Given the description of an element on the screen output the (x, y) to click on. 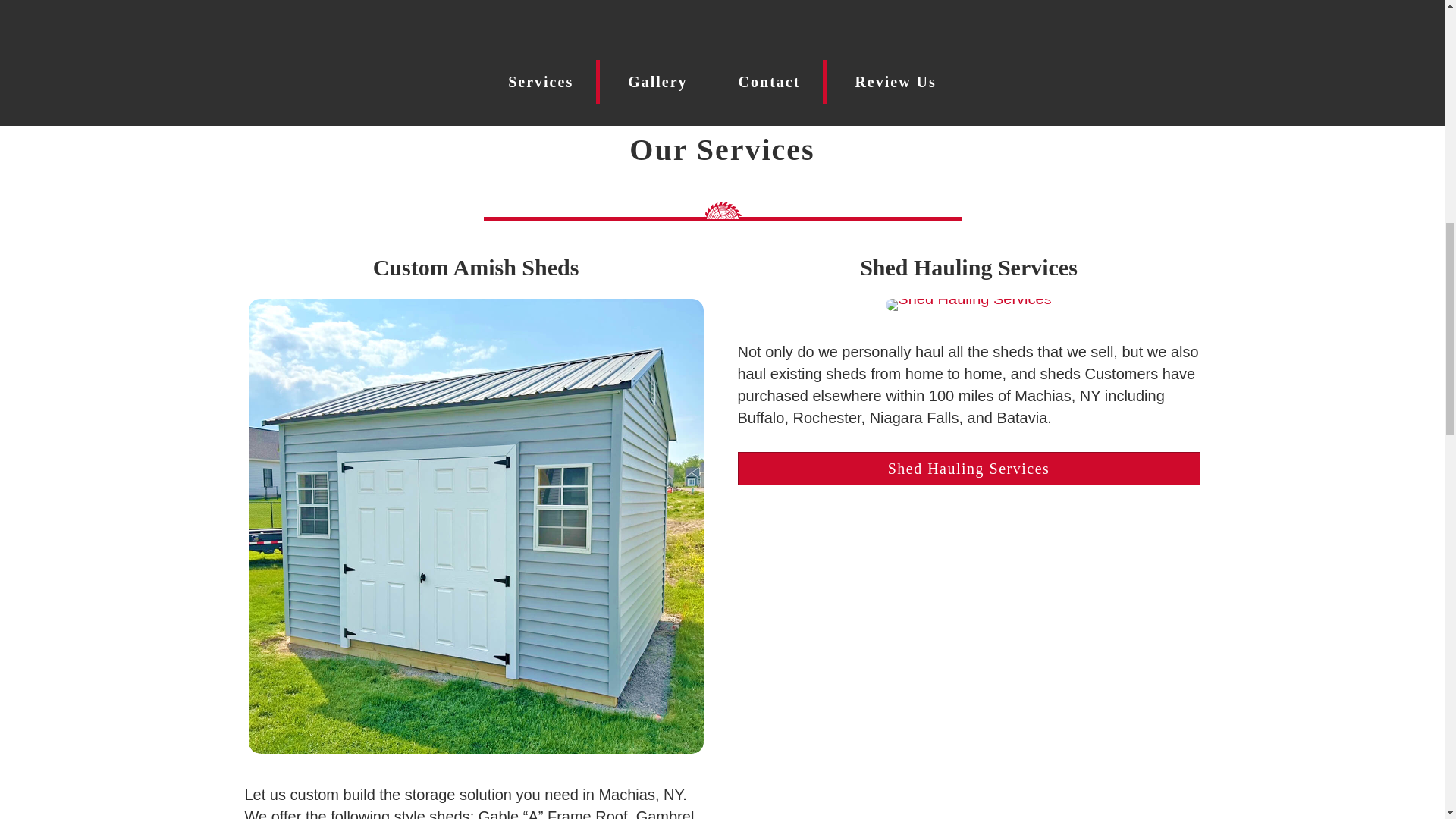
Shed Hauling Services (967, 468)
Shed Hauling Services (968, 304)
